Given the description of an element on the screen output the (x, y) to click on. 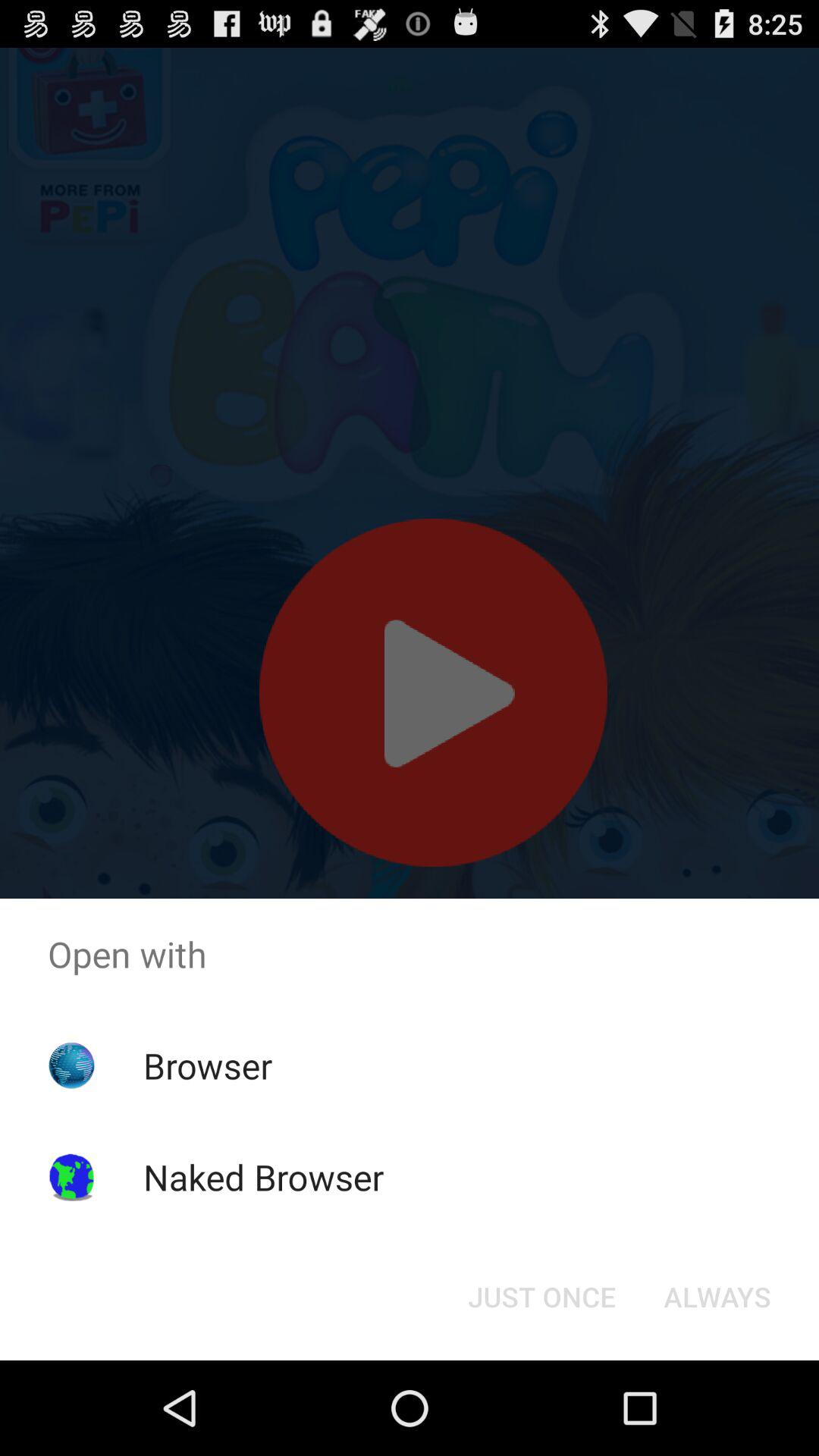
click the item next to always (541, 1296)
